Given the description of an element on the screen output the (x, y) to click on. 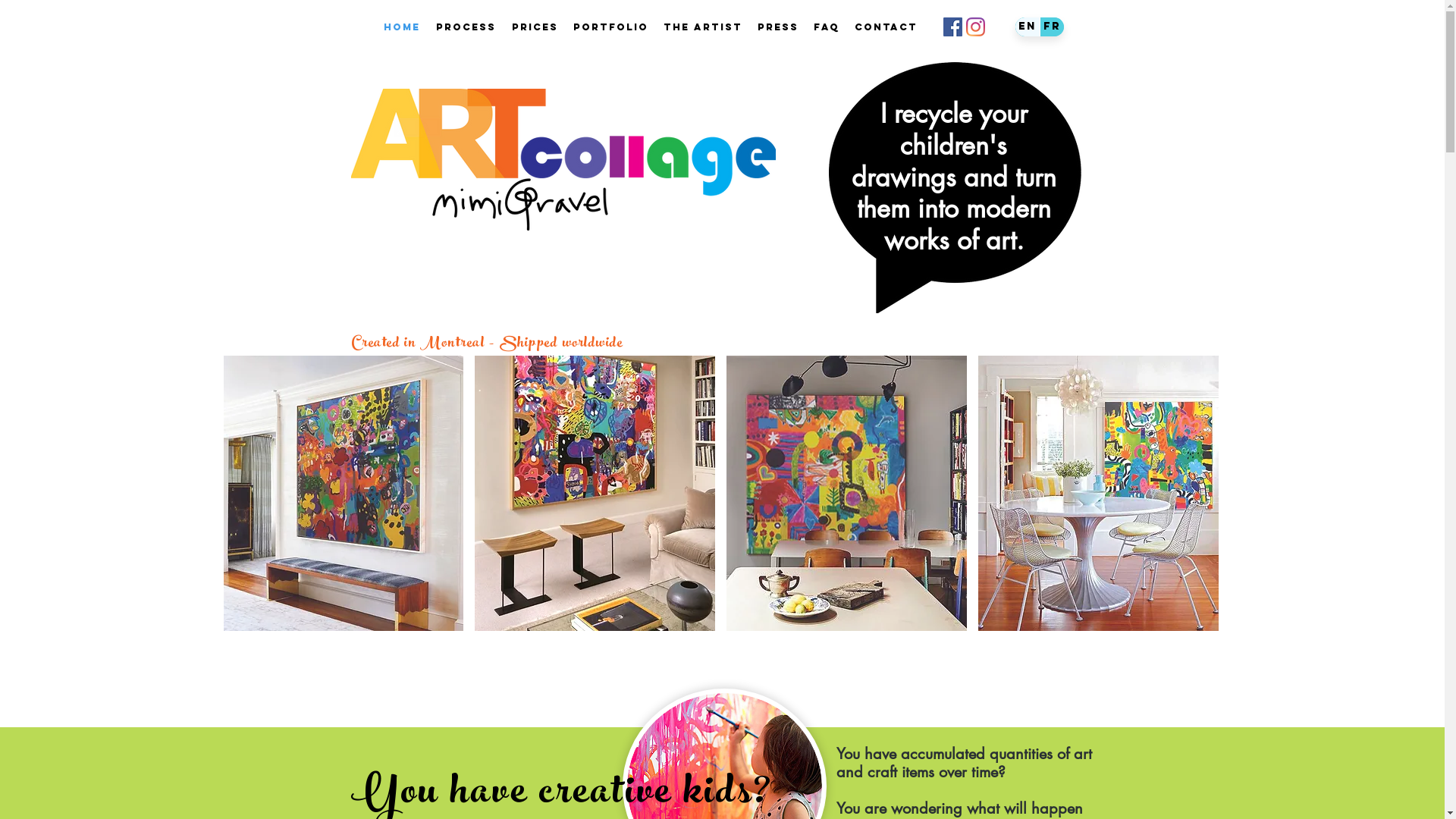
Portfolio Element type: text (610, 26)
Prices Element type: text (533, 26)
FAQ Element type: text (825, 26)
HOME Element type: text (402, 26)
Contact Element type: text (885, 26)
Process Element type: text (465, 26)
The artist Element type: text (702, 26)
FR Element type: text (1050, 26)
Press Element type: text (777, 26)
EN Element type: text (1026, 26)
